Given the description of an element on the screen output the (x, y) to click on. 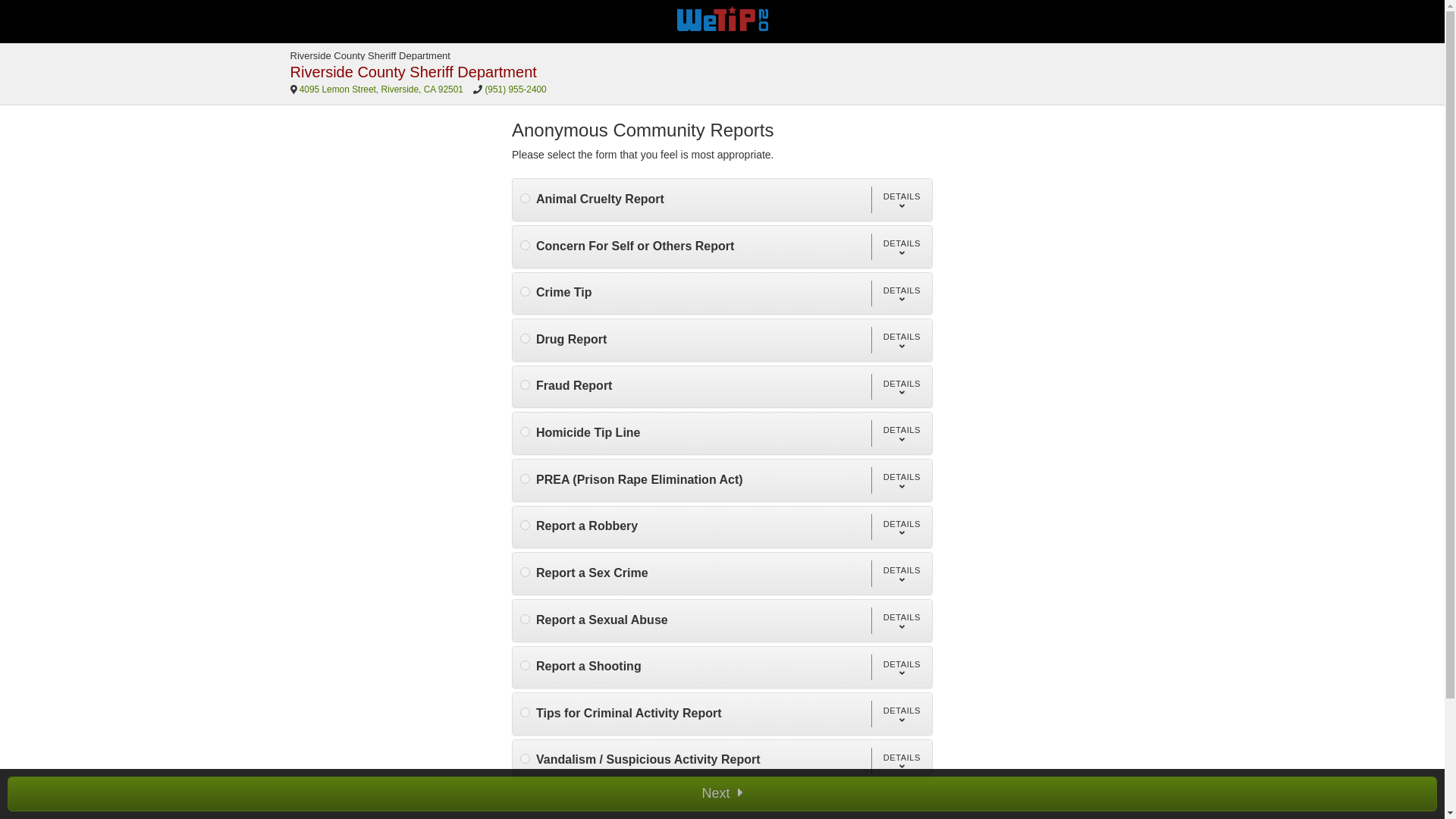
on (524, 572)
DETAILS (900, 386)
on (524, 665)
on (524, 479)
DETAILS (900, 714)
on (524, 758)
DETAILS (900, 246)
on (524, 524)
DETAILS (900, 667)
DETAILS (900, 199)
DETAILS (900, 527)
on (524, 244)
on (524, 198)
DETAILS (900, 339)
on (524, 619)
